Given the description of an element on the screen output the (x, y) to click on. 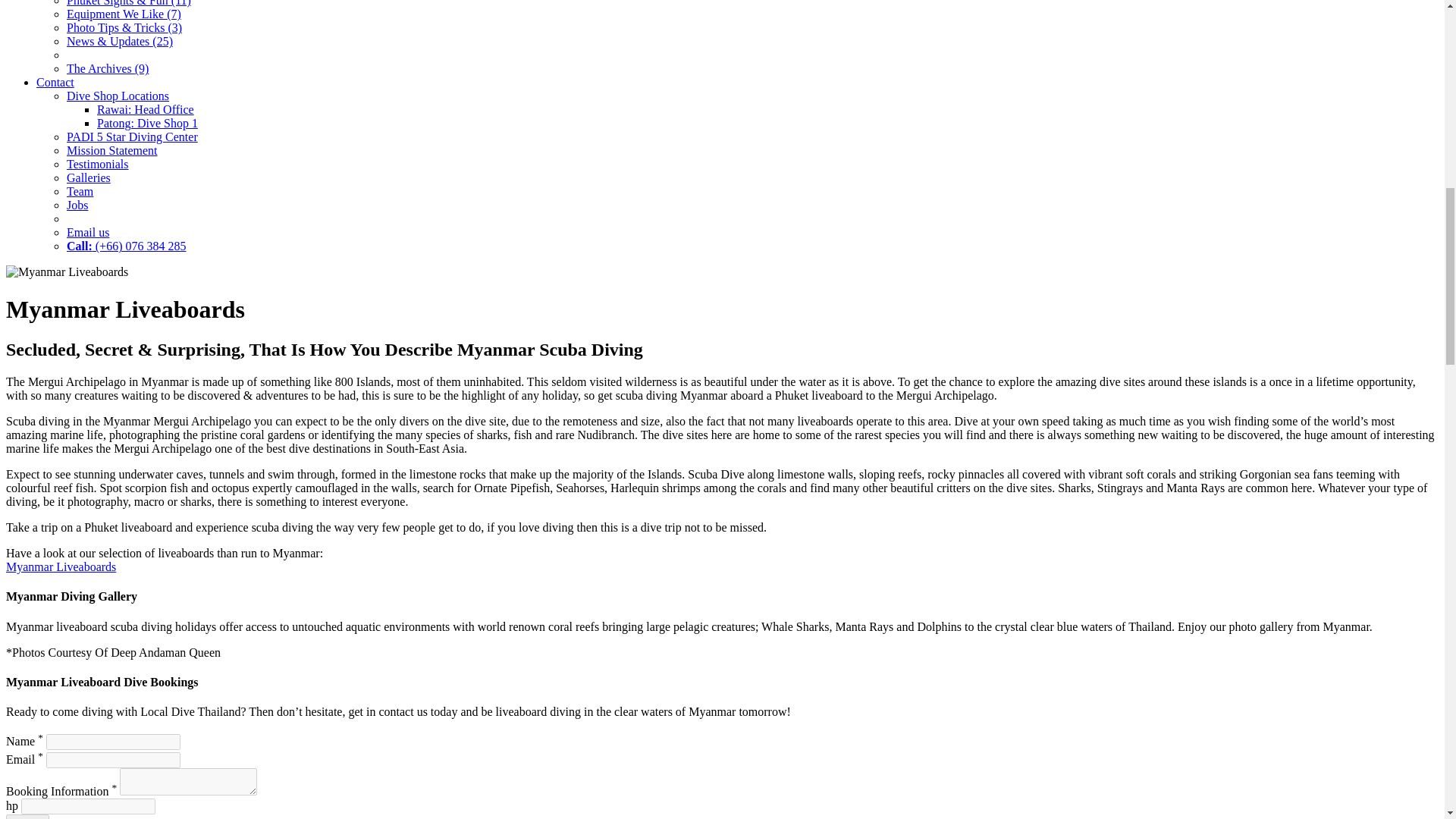
Submit (27, 816)
